Given the description of an element on the screen output the (x, y) to click on. 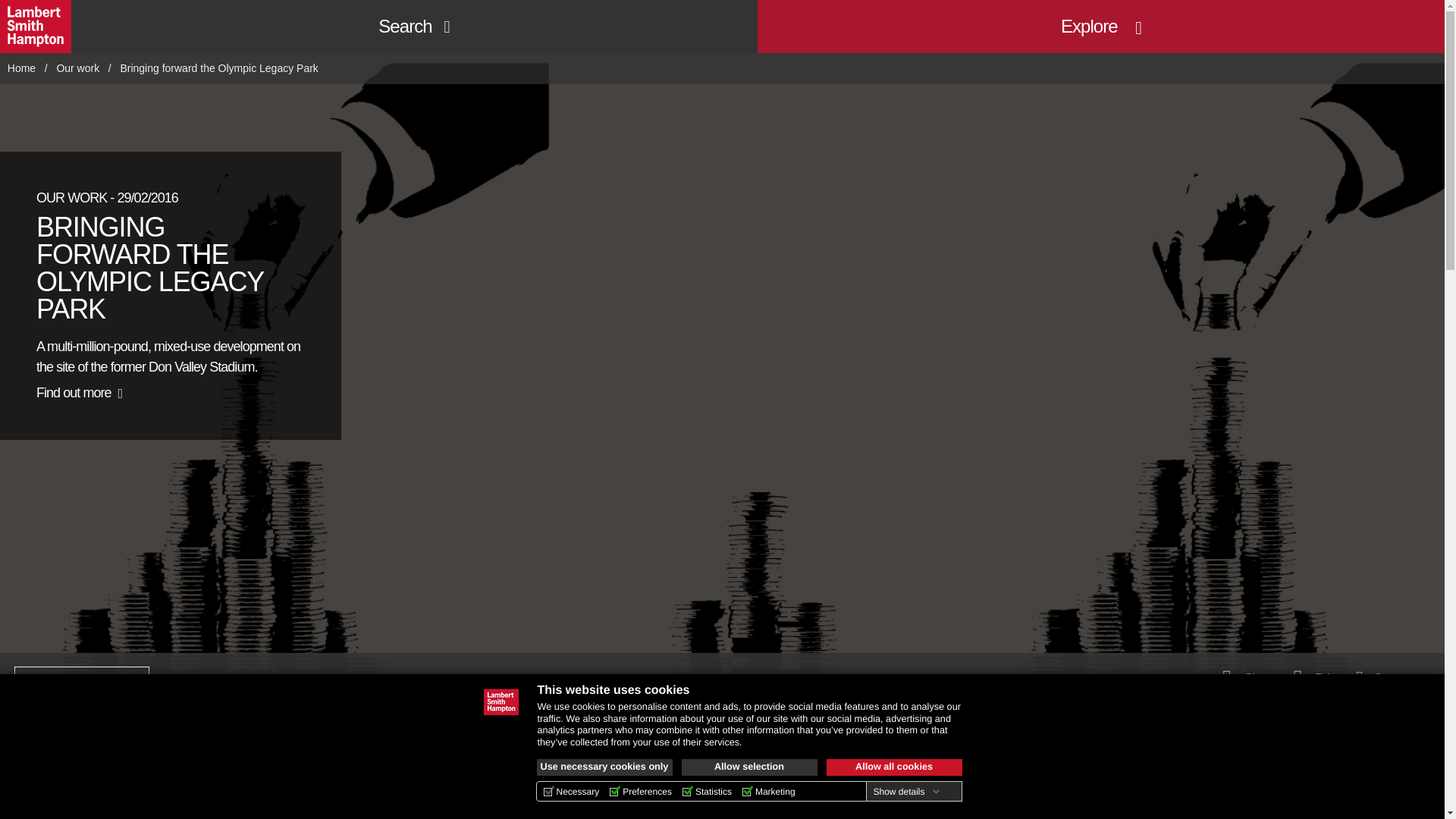
Allow selection (748, 767)
Allow all cookies (894, 767)
Find out more (79, 392)
Show details (905, 791)
Use necessary cookies only (604, 767)
